Given the description of an element on the screen output the (x, y) to click on. 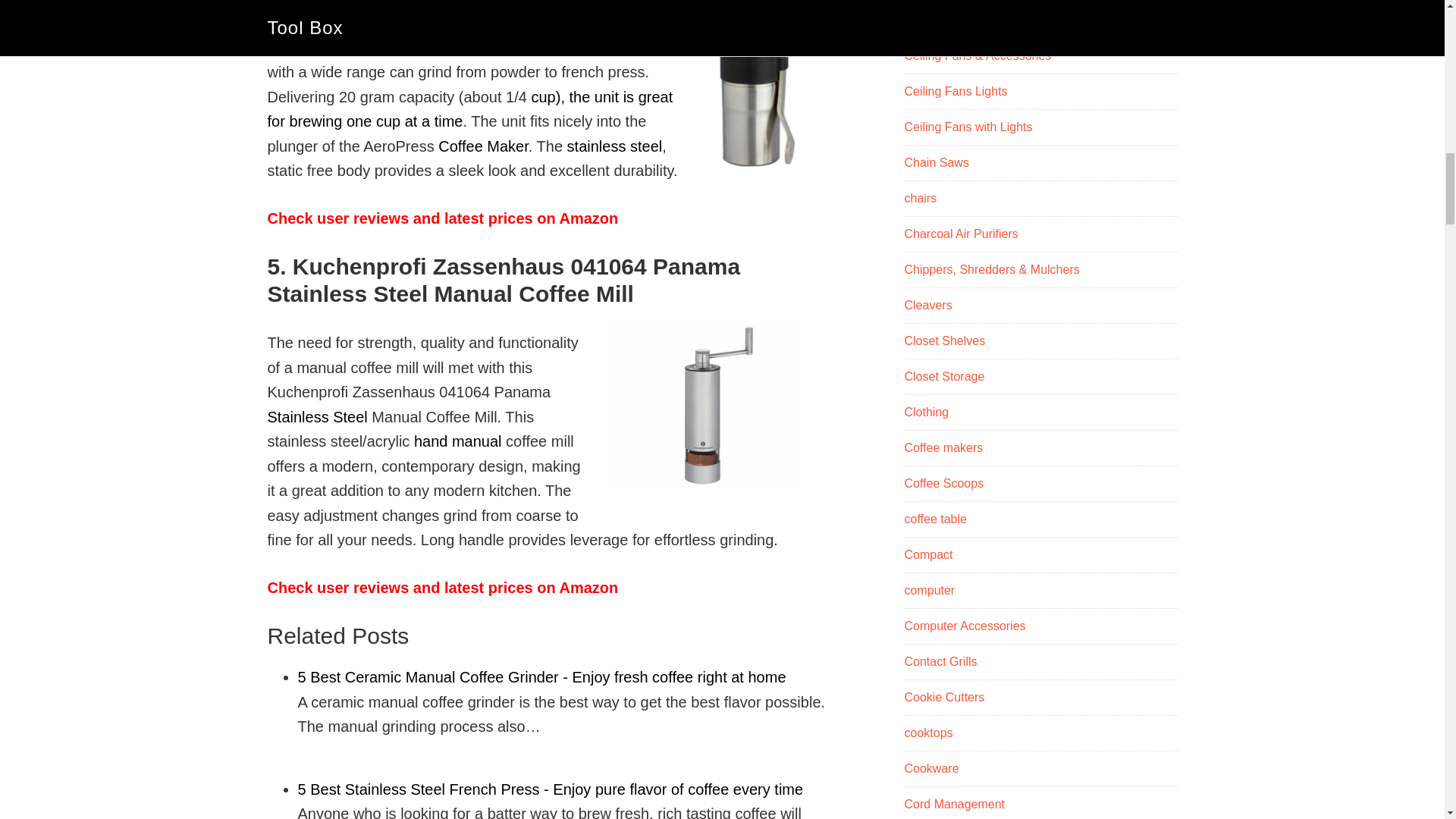
Stainless Steel (316, 416)
stainless steel (614, 146)
Check user reviews and latest prices on Amazon (441, 587)
hand manual (457, 441)
Coffee Maker (483, 146)
indoor and outdoor (330, 22)
conical burrs (641, 47)
Check user reviews and latest prices on Amazon (441, 217)
